Given the description of an element on the screen output the (x, y) to click on. 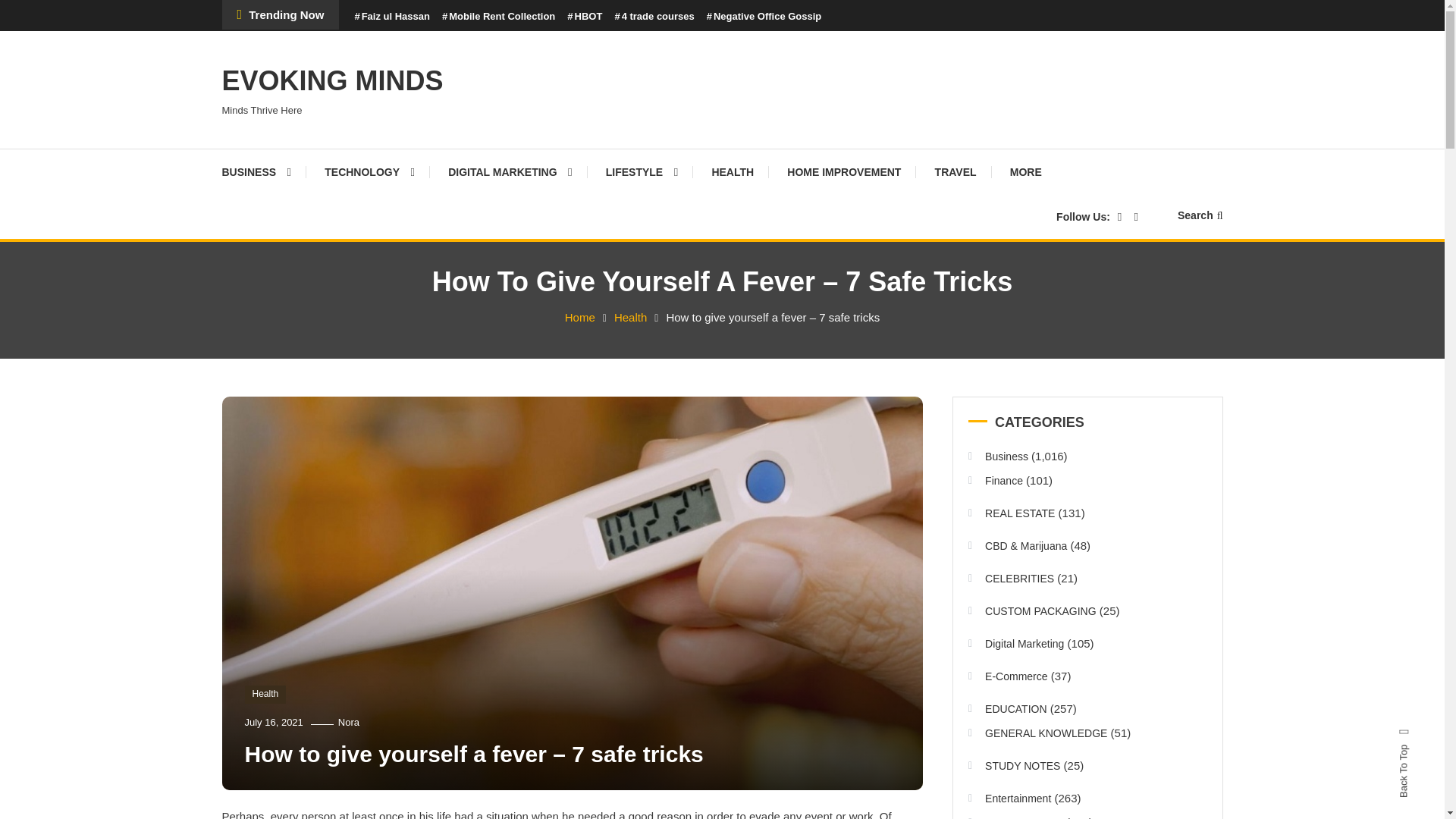
Search (768, 432)
LIFESTYLE (642, 171)
Mobile Rent Collection (498, 16)
Search (1200, 215)
Home (579, 317)
BUSINESS (263, 171)
Health (630, 317)
HEALTH (731, 171)
EVOKING MINDS (331, 80)
Negative Office Gossip (764, 16)
